Given the description of an element on the screen output the (x, y) to click on. 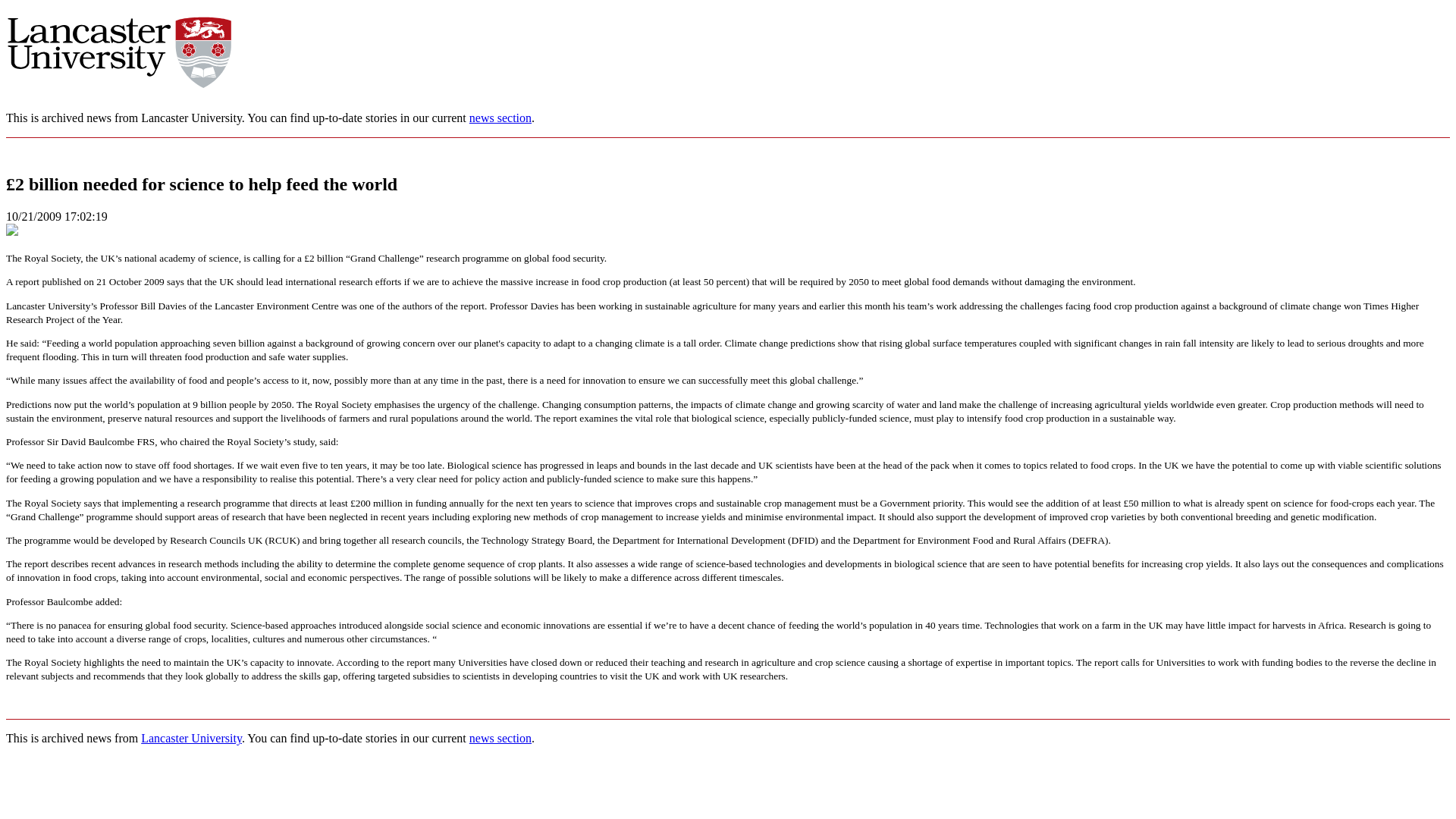
news section (499, 117)
